Given the description of an element on the screen output the (x, y) to click on. 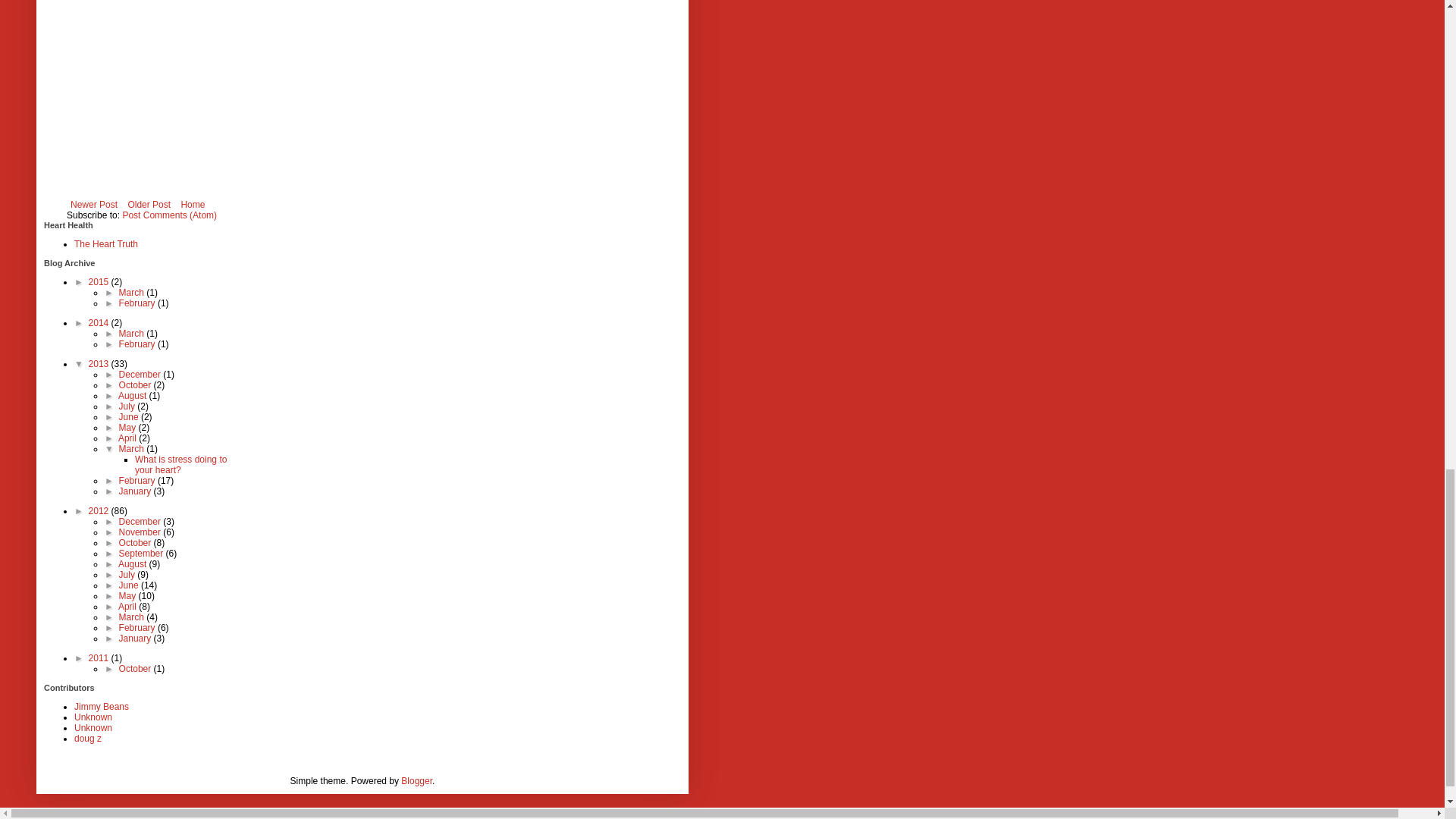
2014 (100, 322)
Home (192, 204)
Older Post (148, 204)
2015 (100, 281)
2013 (100, 363)
March (133, 292)
Newer Post (93, 204)
Older Post (148, 204)
February (138, 344)
December (141, 374)
March (133, 333)
The Heart Truth (106, 244)
Newer Post (93, 204)
February (138, 303)
